Given the description of an element on the screen output the (x, y) to click on. 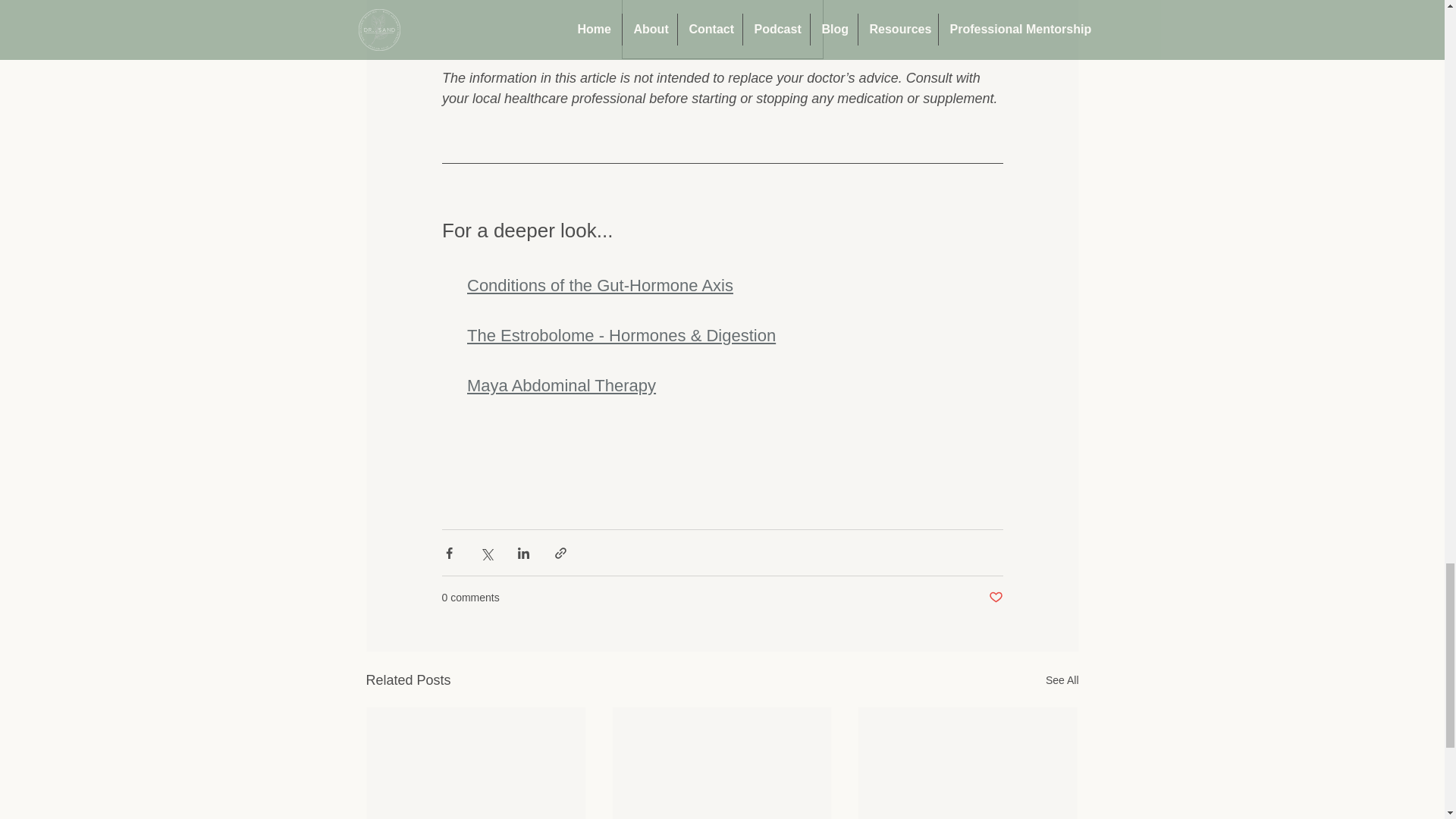
Post not marked as liked (995, 597)
Maya Abdominal Therapy (561, 384)
Conditions of the Gut-Hormone Axis (600, 285)
See All (1061, 680)
